Given the description of an element on the screen output the (x, y) to click on. 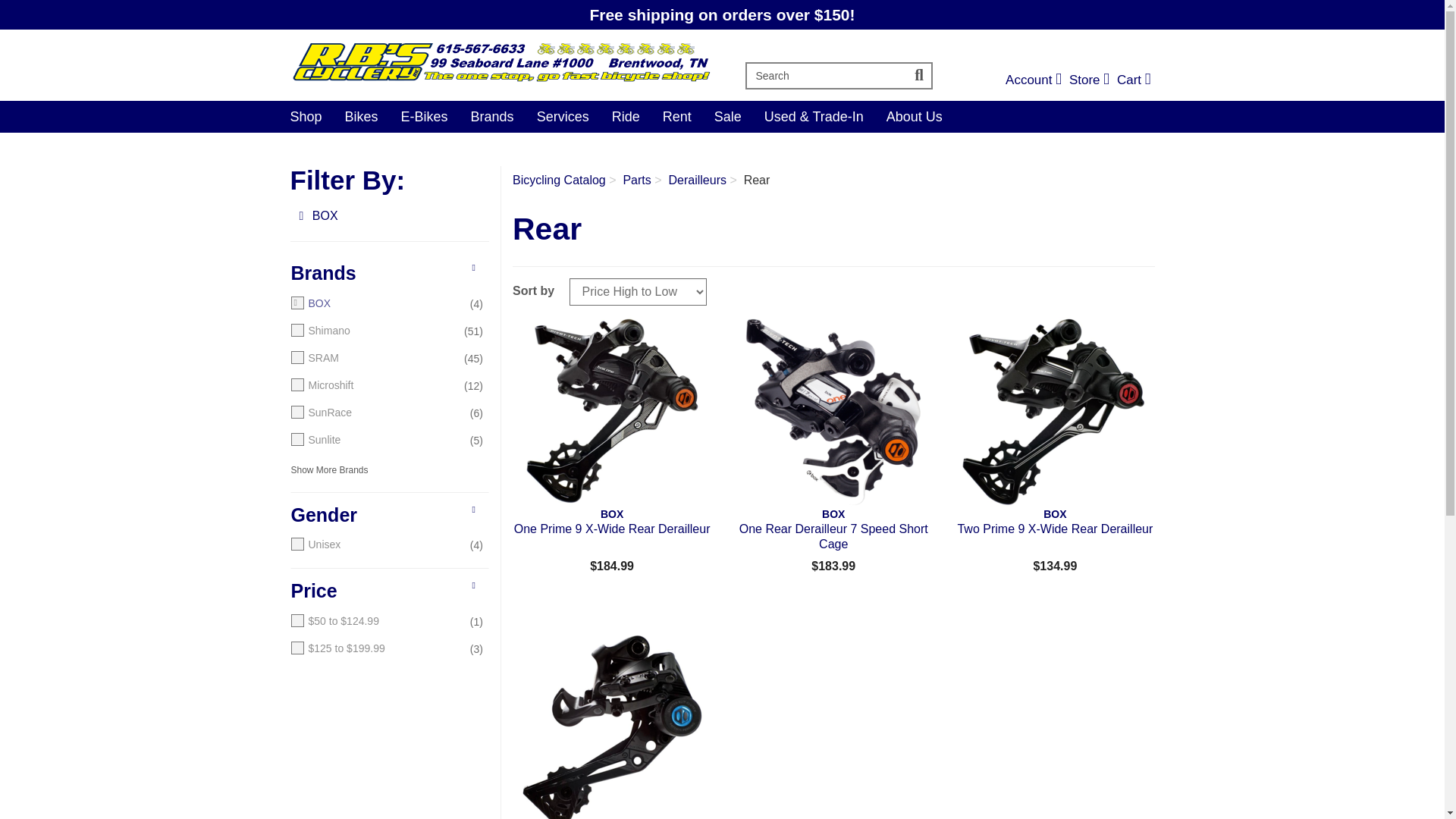
Shop (1133, 79)
Search (306, 116)
BOX One Prime 9 X-Wide Rear Derailleur (825, 75)
Search (611, 411)
Account (1088, 79)
BOX One Rear Derailleur 7 Speed Short Cage (920, 75)
R.B.'s Cyclery Home Page (1033, 79)
Store (833, 411)
BOX Two Prime 9 X-Wide Rear Derailleur (1033, 79)
BOX One Rear Derailleur 7 Speed Short Cage (499, 60)
Cart (1088, 79)
BOX One Prime 9 X-Wide Rear Derailleur (1054, 411)
